Given the description of an element on the screen output the (x, y) to click on. 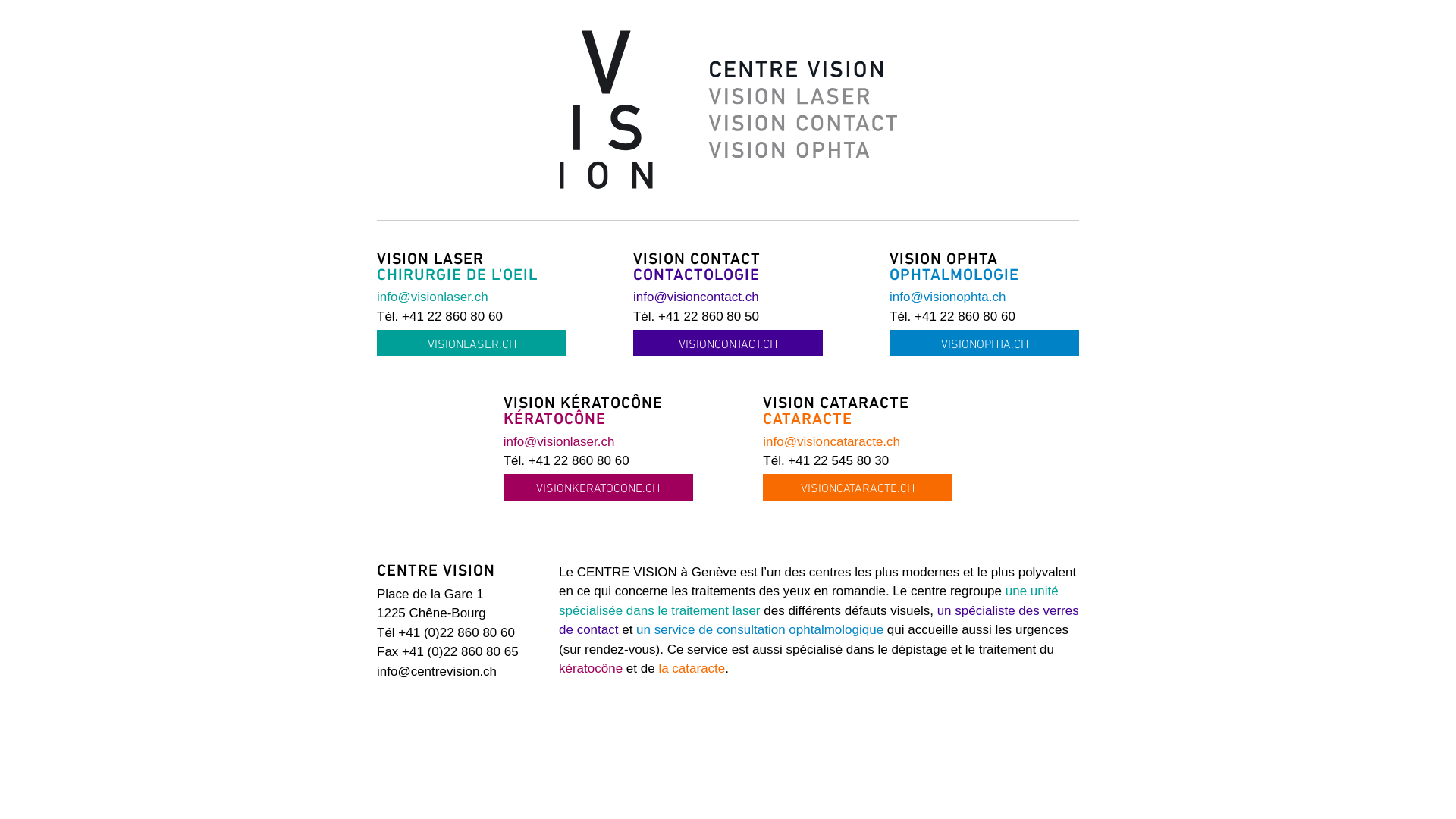
info@visionophta.ch Element type: text (947, 296)
info@visioncontact.ch Element type: text (696, 296)
VISIONKERATOCONE.CH Element type: text (598, 486)
VISIONLASER.CH Element type: text (471, 342)
VISIONOPHTA.CH Element type: text (984, 342)
VISIONCATARACTE.CH Element type: text (857, 486)
info@visioncataracte.ch Element type: text (831, 441)
la cataracte Element type: text (691, 668)
info@centrevision.ch Element type: text (436, 671)
un service de consultation ophtalmologique Element type: text (759, 629)
VISIONCONTACT.CH Element type: text (727, 342)
info@visionlaser.ch Element type: text (559, 441)
info@visionlaser.ch Element type: text (432, 296)
